Given the description of an element on the screen output the (x, y) to click on. 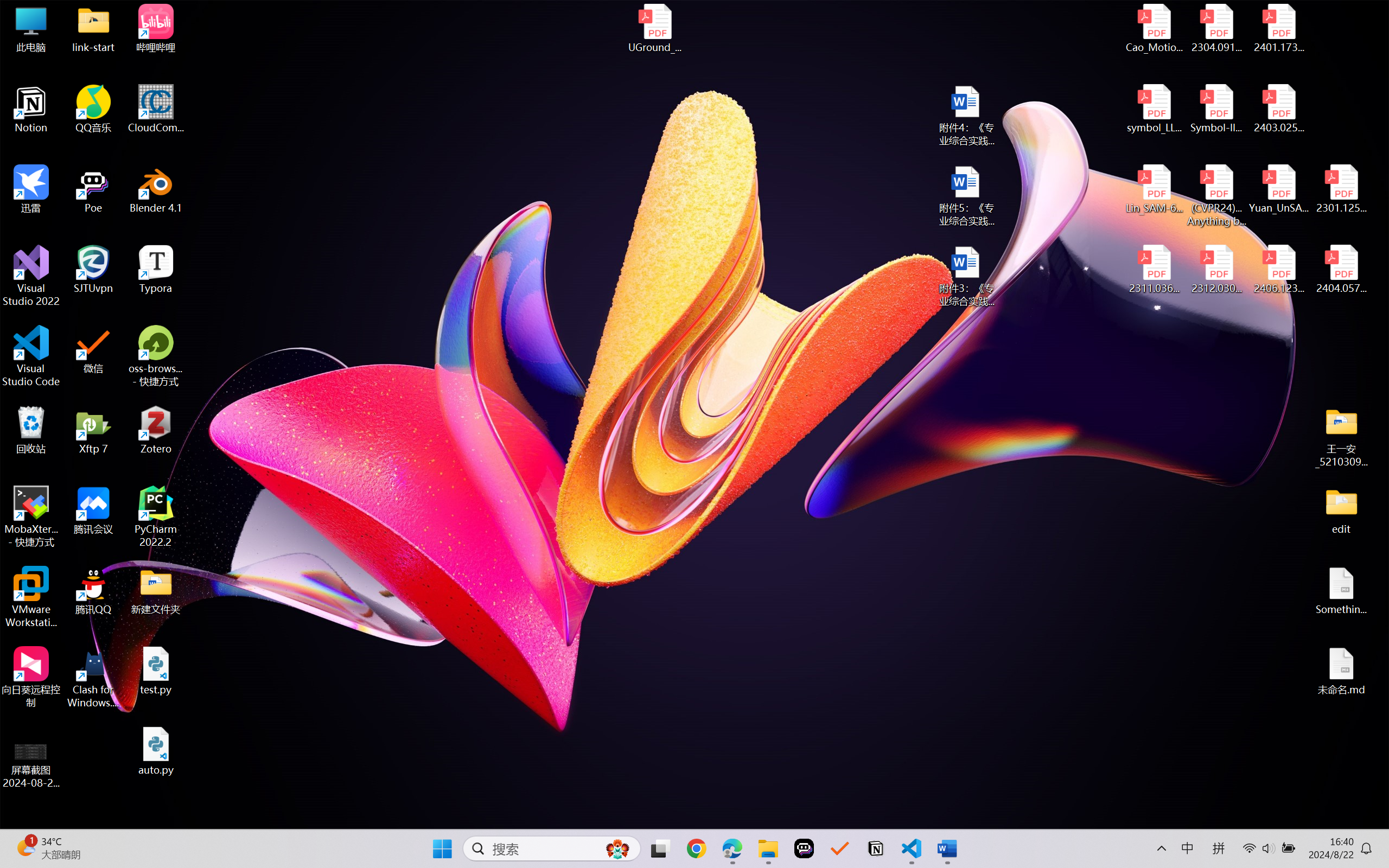
(CVPR24)Matching Anything by Segmenting Anything.pdf (1216, 195)
edit (1340, 510)
VMware Workstation Pro (31, 597)
